Given the description of an element on the screen output the (x, y) to click on. 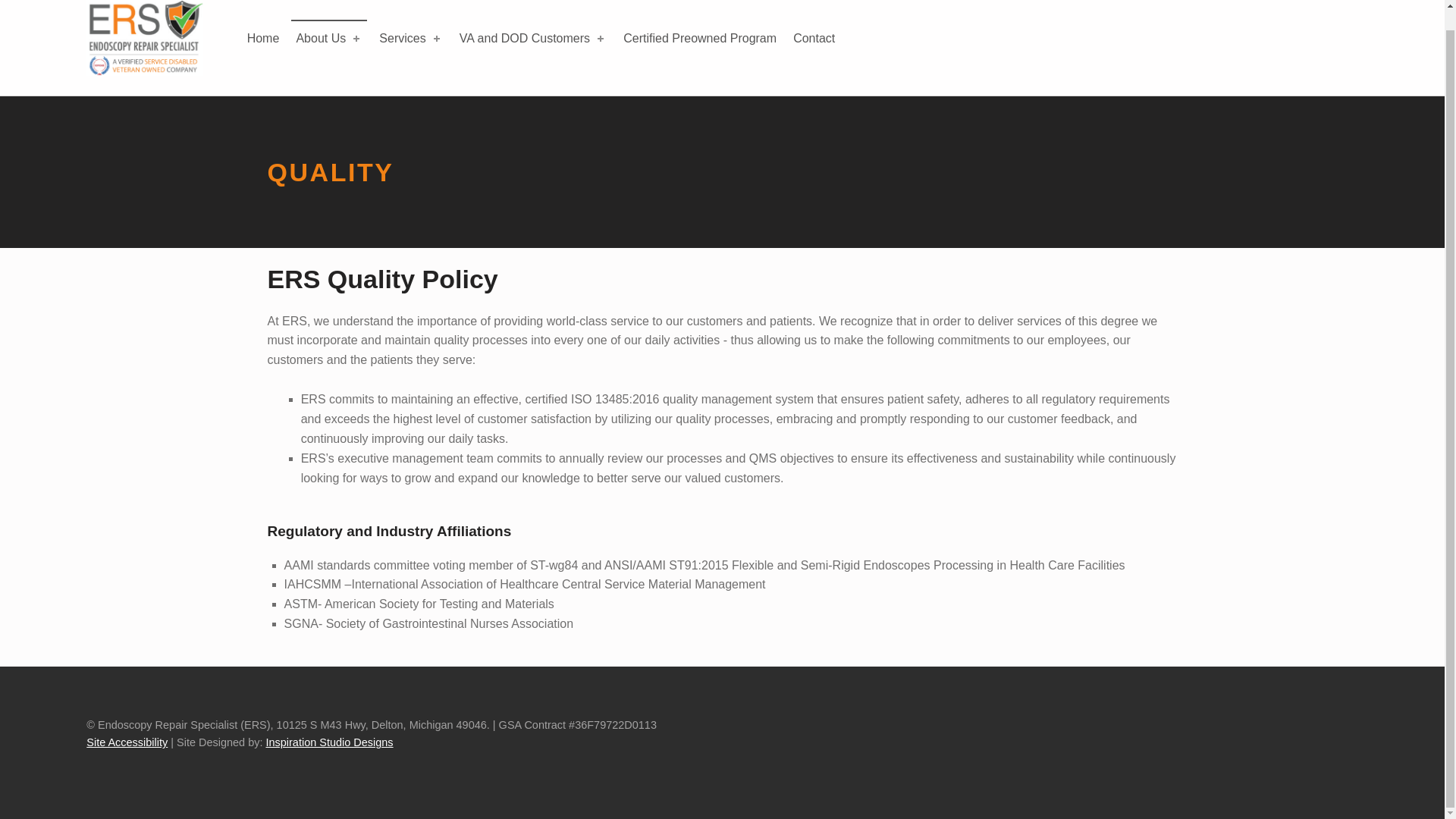
Inspiration Studio Designs (328, 742)
Services (410, 37)
Site Accessibility (126, 742)
Certified Preowned Program (699, 37)
Contact (814, 37)
Home (263, 37)
About Us (328, 37)
VA and DOD Customers (532, 37)
